Given the description of an element on the screen output the (x, y) to click on. 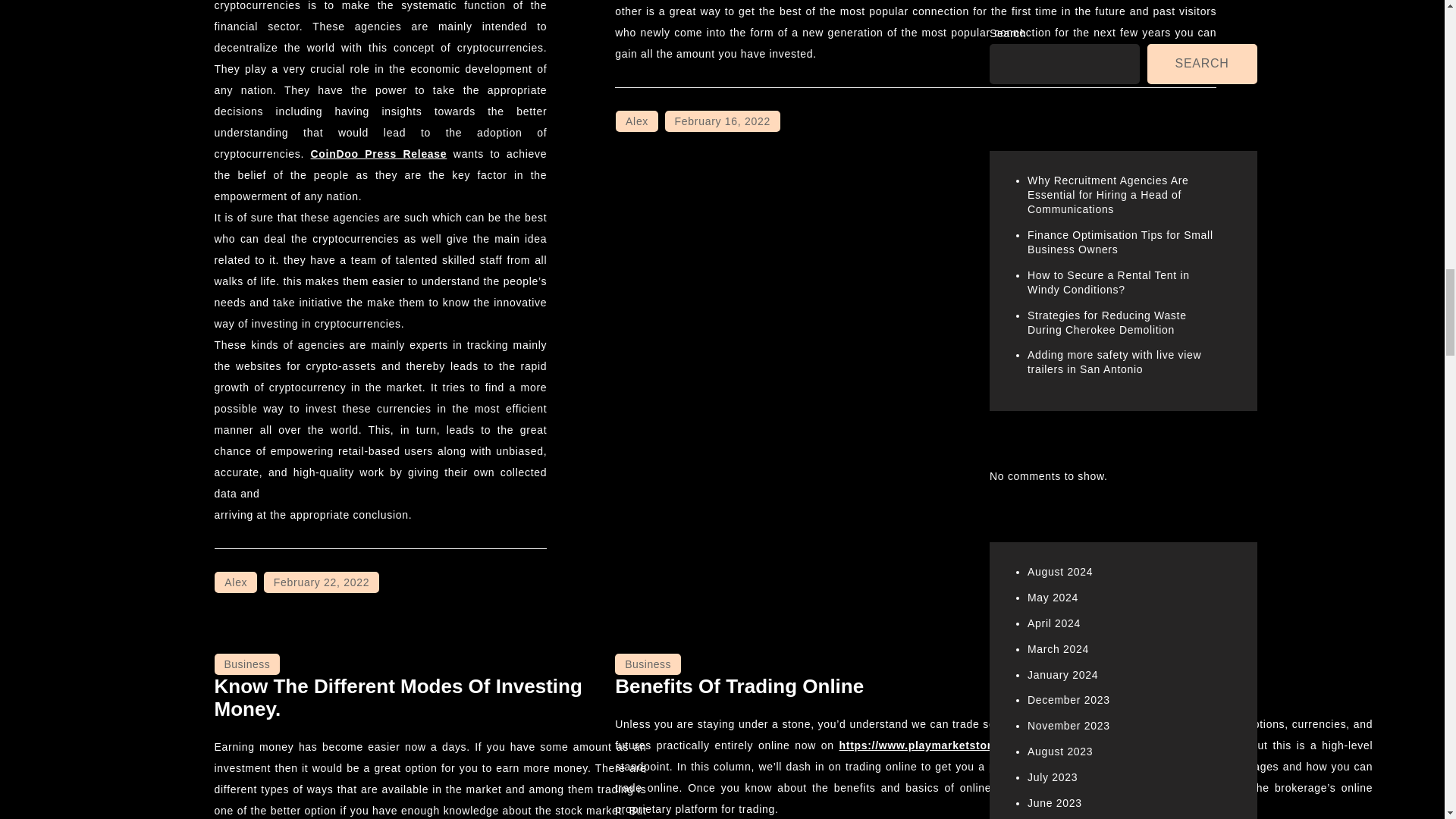
February 16, 2022 (722, 120)
February 22, 2022 (320, 581)
Benefits Of Trading Online (738, 685)
Business (246, 663)
Alex (636, 120)
CoinDoo Press Release (378, 153)
Alex (235, 581)
Know The Different Modes Of Investing Money. (397, 697)
Business (647, 663)
